Given the description of an element on the screen output the (x, y) to click on. 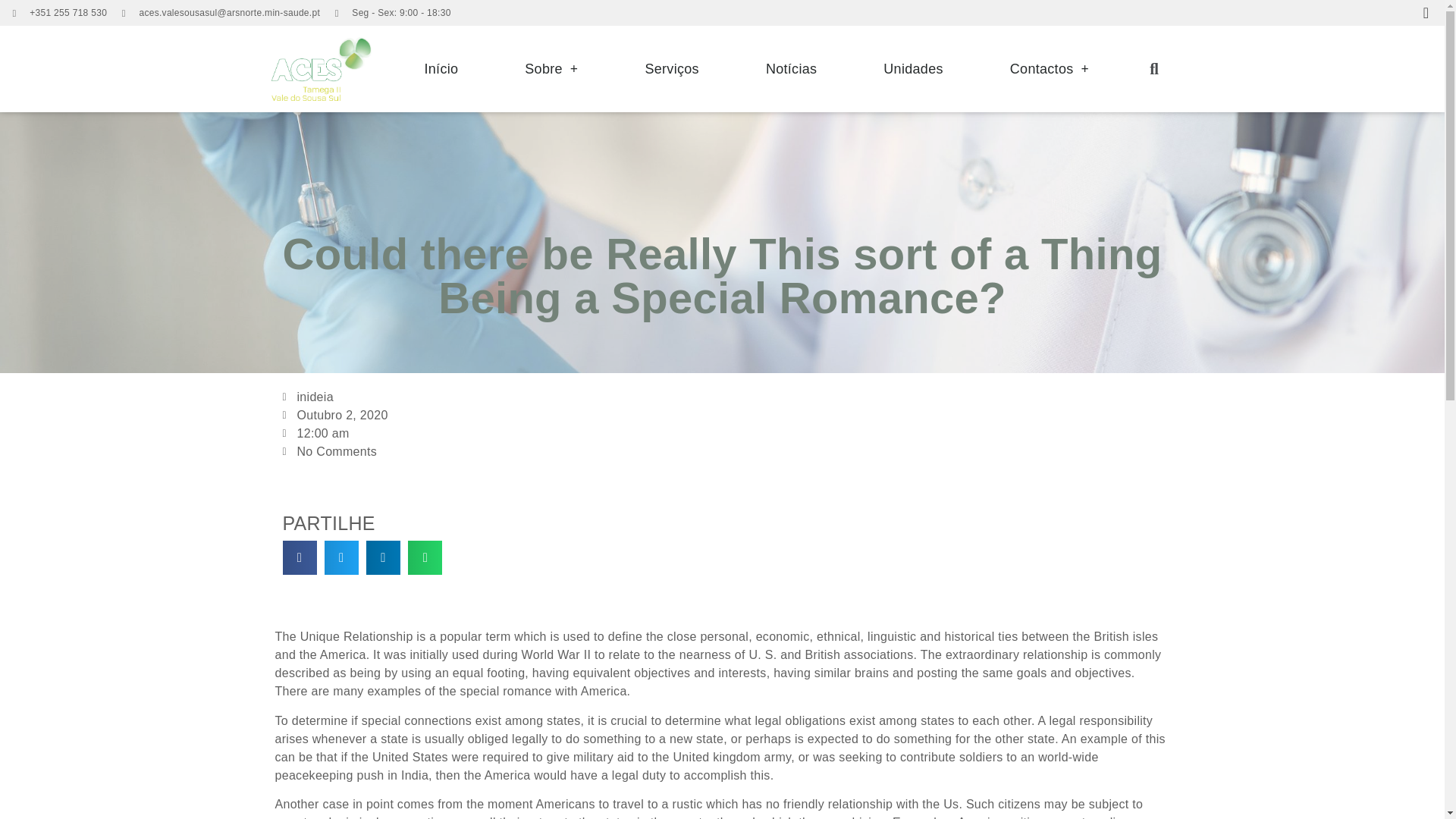
Unidades (912, 68)
No Comments (329, 452)
Outubro 2, 2020 (334, 415)
inideia (307, 397)
Sobre (551, 68)
Contactos (1049, 68)
